Given the description of an element on the screen output the (x, y) to click on. 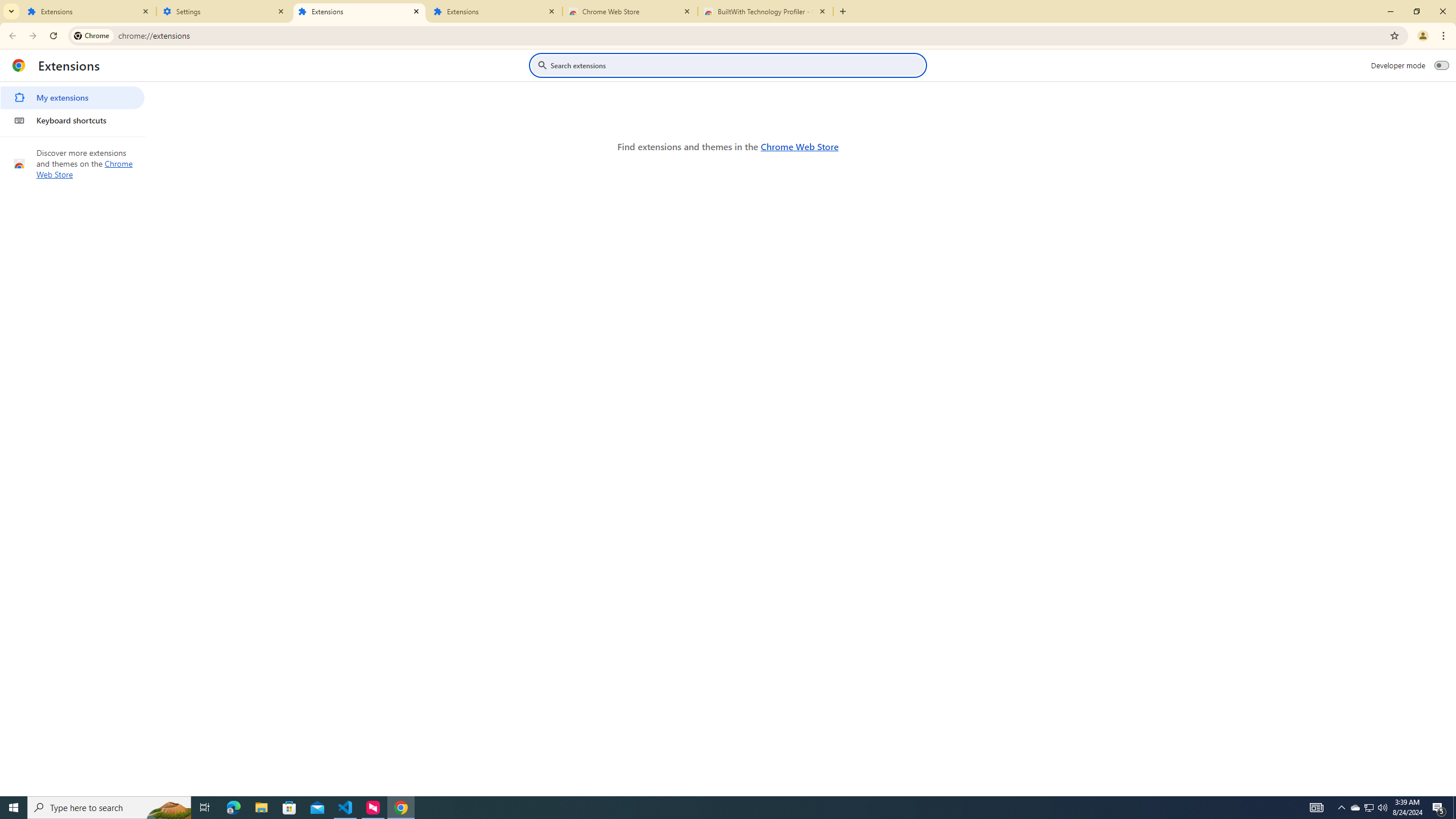
Chrome Web Store (799, 146)
Keyboard shortcuts (72, 119)
My extensions (72, 97)
Developer mode (1442, 64)
Settings (224, 11)
Extensions (359, 11)
Search extensions (735, 65)
